Given the description of an element on the screen output the (x, y) to click on. 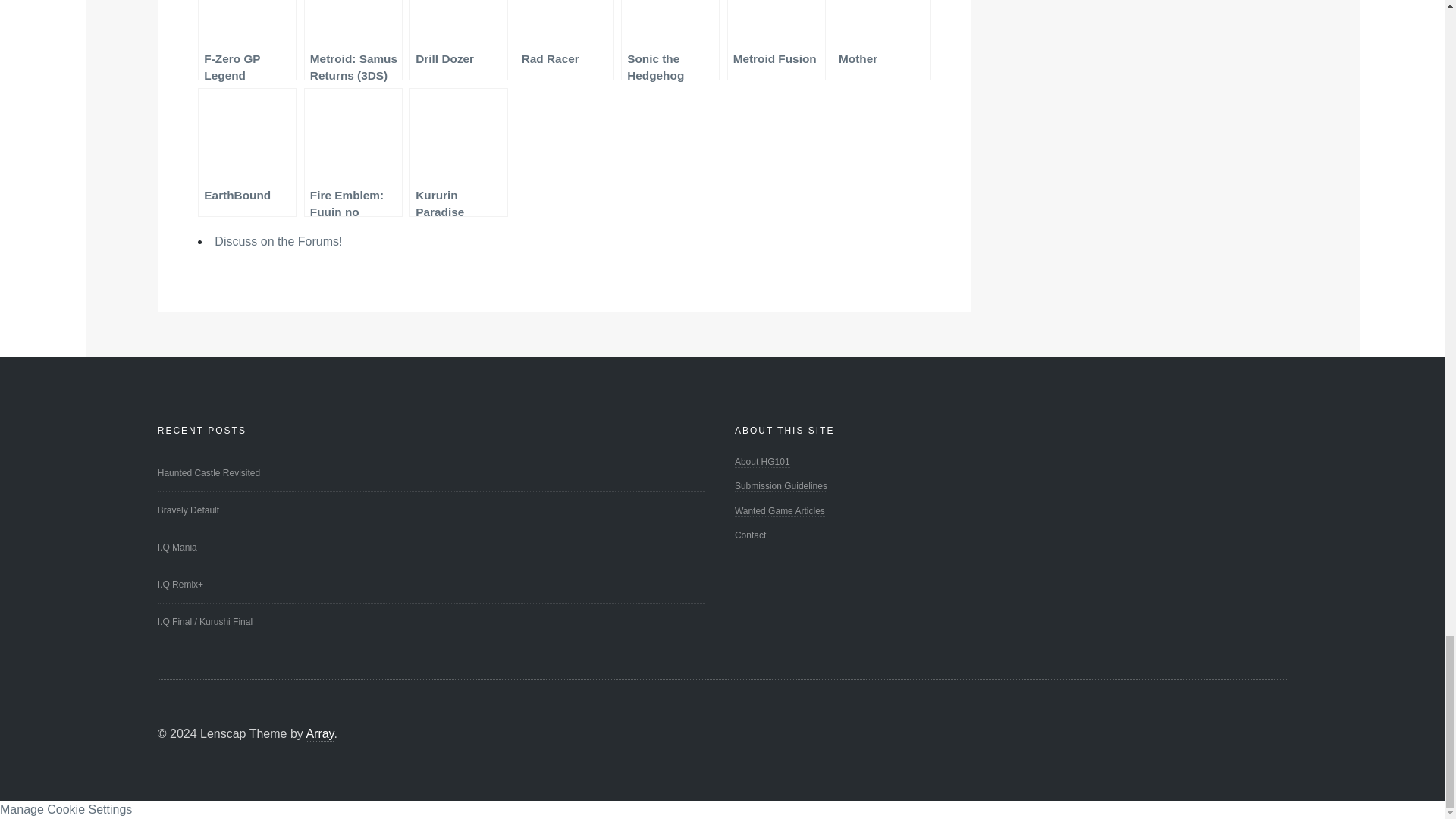
Metroid Fusion (775, 40)
Discuss on the Forums! (278, 241)
Rad Racer (564, 40)
Sonic the Hedgehog (670, 40)
Mother (881, 40)
Metroid Fusion (775, 40)
Rad Racer (564, 40)
Drill Dozer (458, 40)
F-Zero GP Legend (247, 40)
Mother (881, 40)
